Given the description of an element on the screen output the (x, y) to click on. 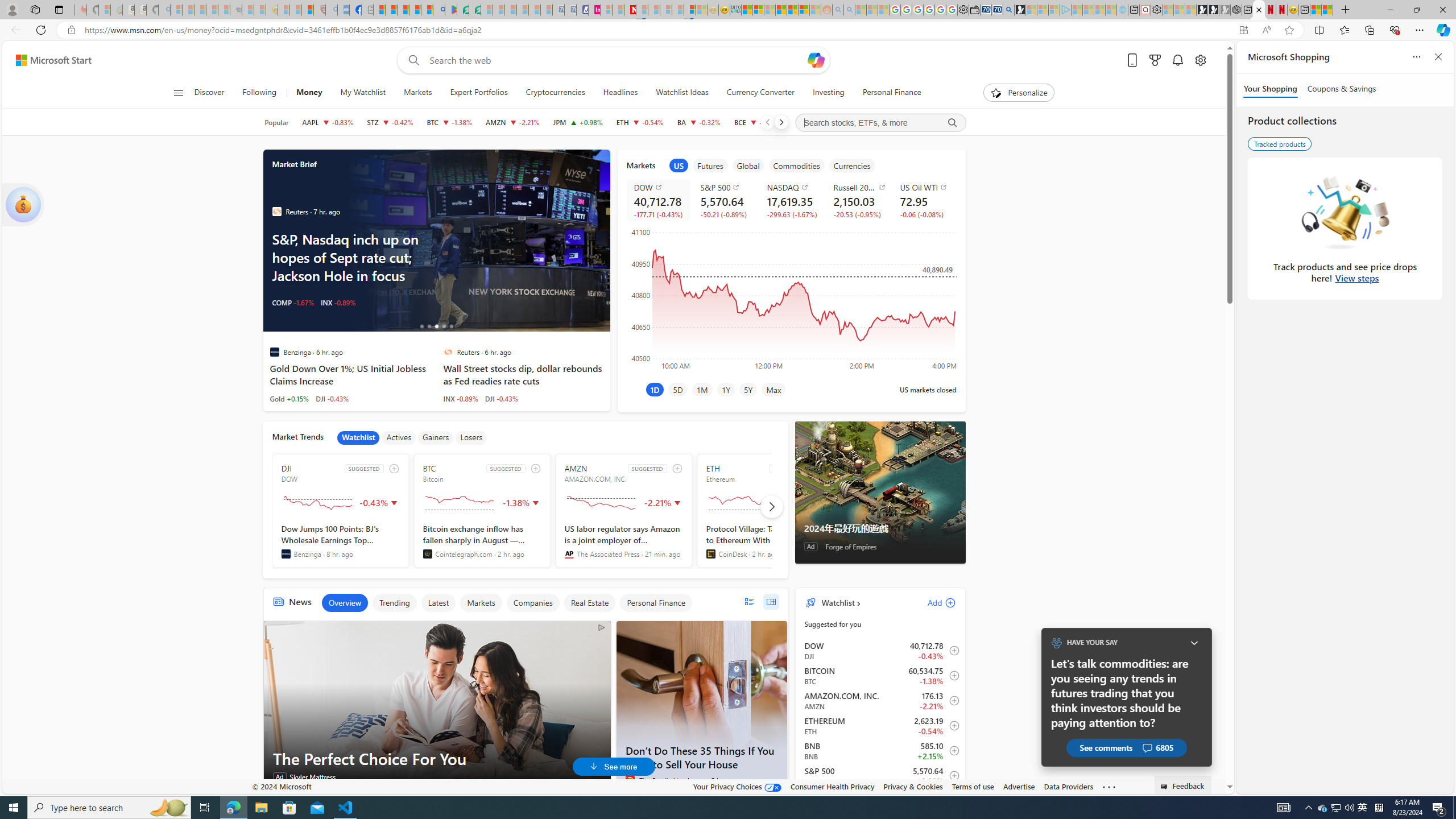
Home | Sky Blue Bikes - Sky Blue Bikes - Sleeping (1122, 9)
Overview (344, 602)
Personal Finance (891, 92)
Data Providers (1068, 785)
New Report Confirms 2023 Was Record Hot | Watch - Sleeping (223, 9)
Headlines (620, 92)
Watchlist (358, 437)
Utah sues federal government - Search - Sleeping (849, 9)
Cheap Hotels - Save70.com - Sleeping (569, 9)
Investing (828, 92)
